Given the description of an element on the screen output the (x, y) to click on. 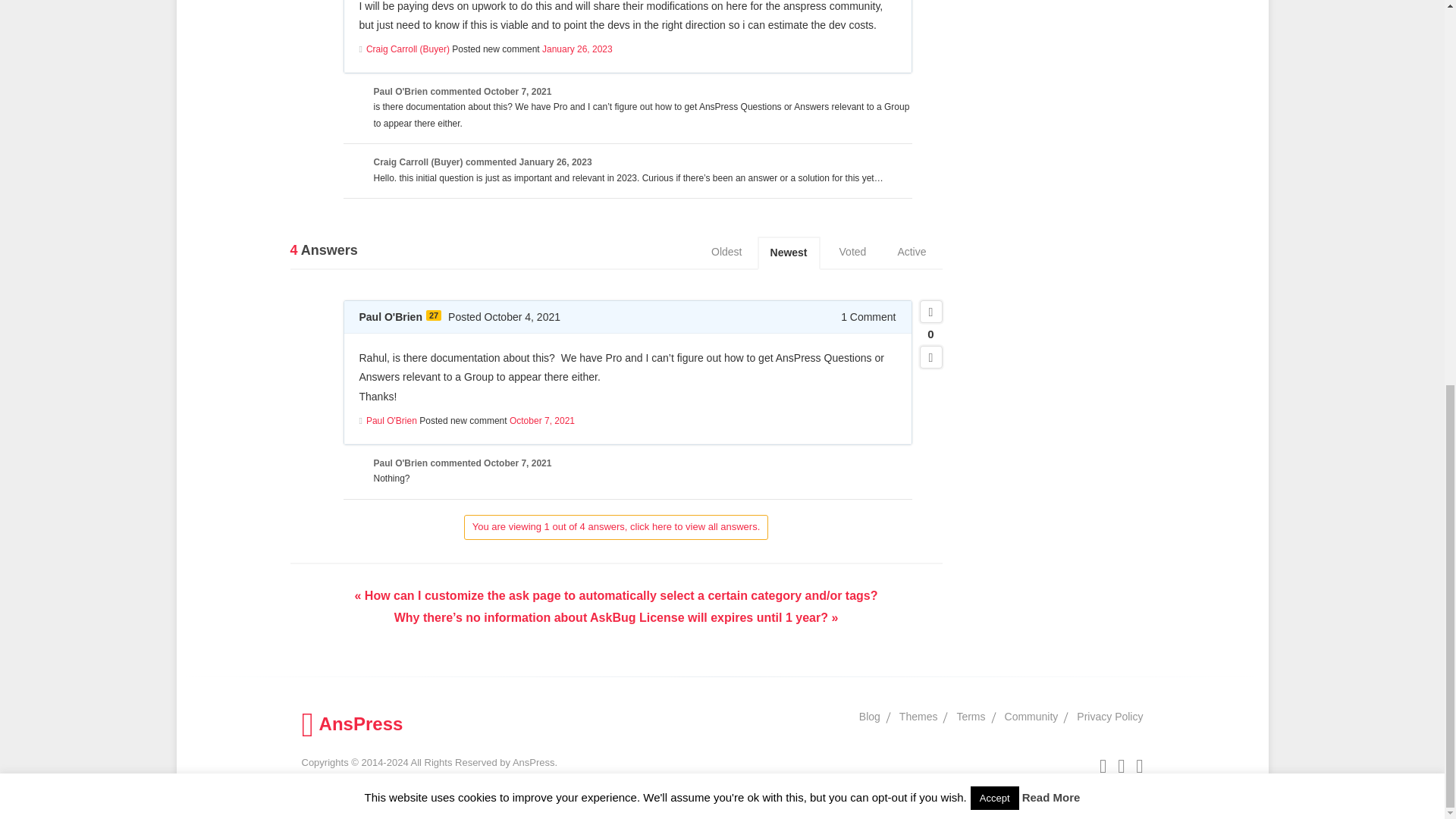
Active (911, 252)
Reputation (433, 315)
Paul O'Brien (400, 91)
Voted (853, 252)
January 26, 2023 (576, 49)
October 7, 2021 (517, 91)
Newest (789, 253)
January 26, 2023 (555, 162)
Up vote this post (930, 311)
Down vote this post (930, 356)
Oldest (726, 252)
